Given the description of an element on the screen output the (x, y) to click on. 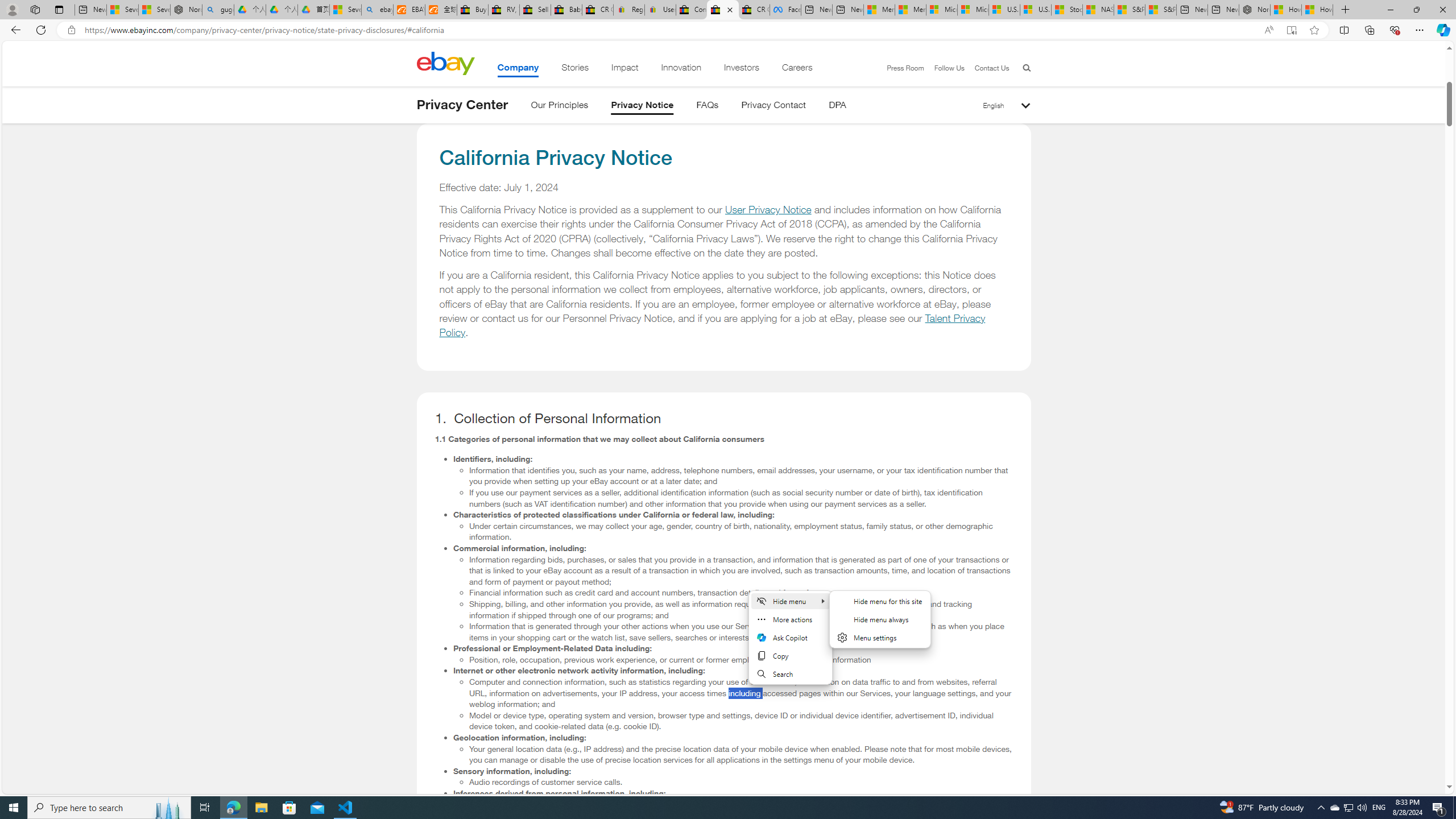
Mini menu on text selection (790, 644)
Privacy Center (462, 104)
